Given the description of an element on the screen output the (x, y) to click on. 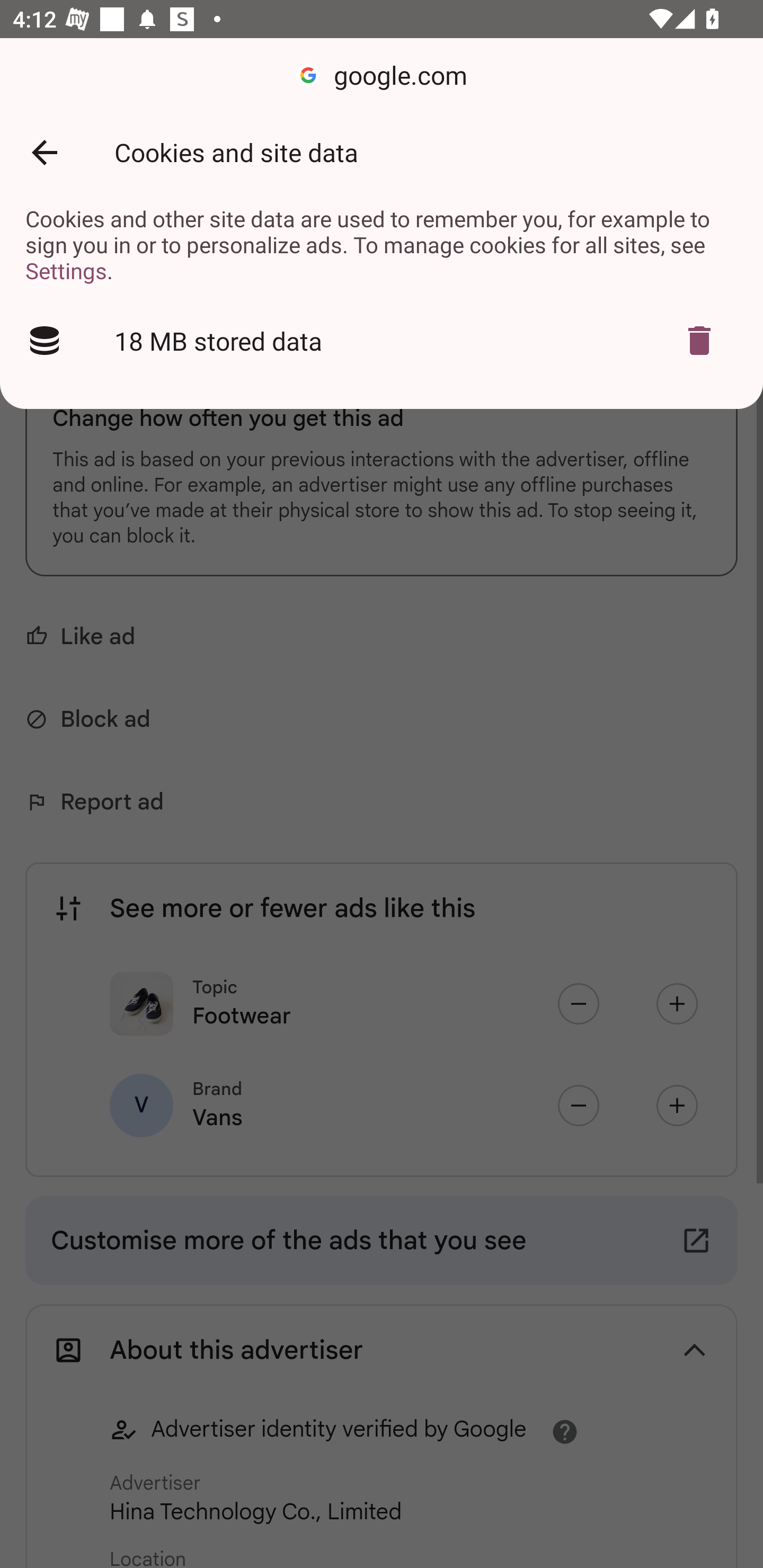
google.com (381, 75)
Back (44, 152)
18 MB stored data Delete cookies? (381, 340)
